Given the description of an element on the screen output the (x, y) to click on. 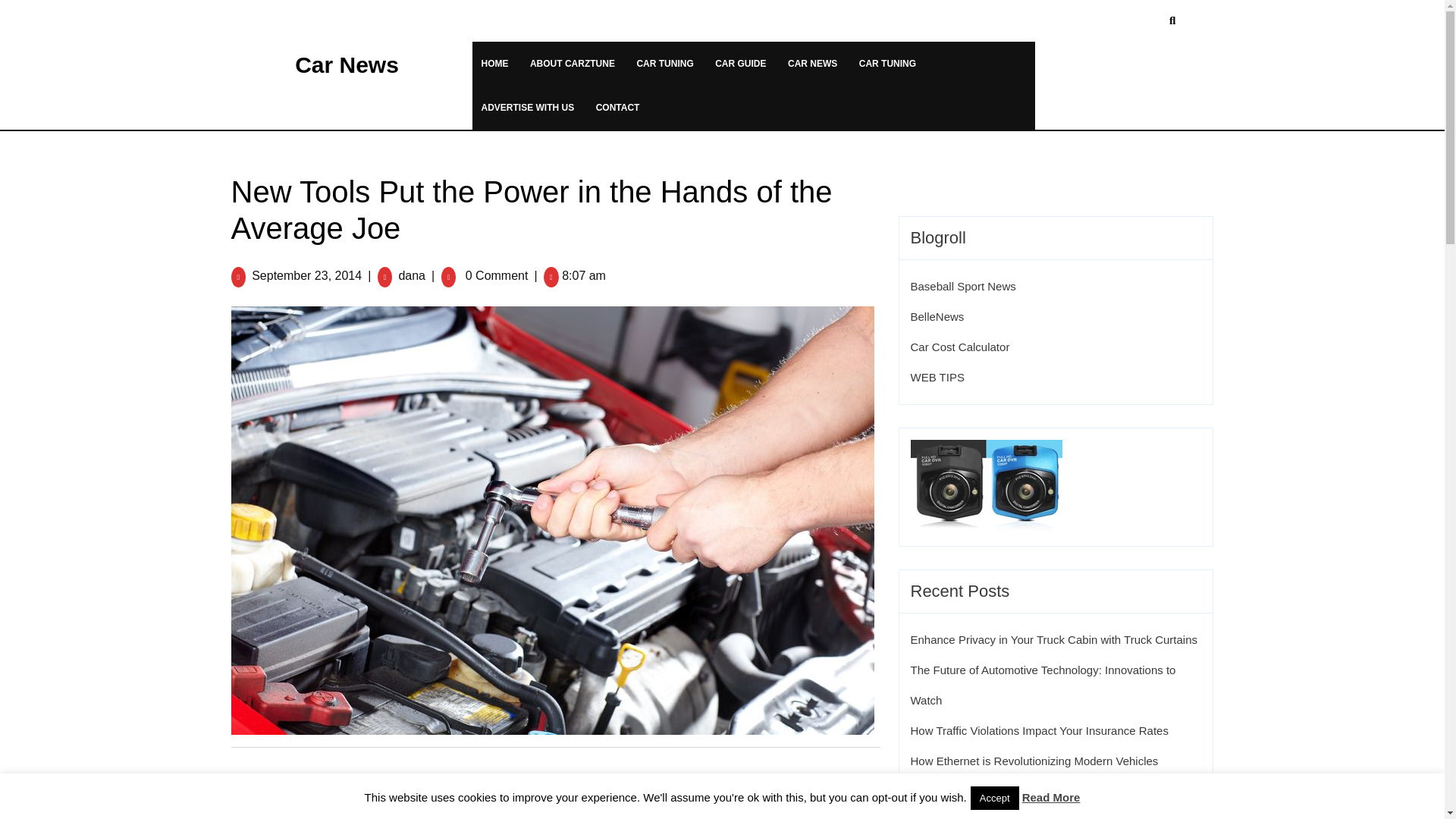
CAR GUIDE (740, 62)
auto repairs (401, 815)
ABOUT CARZTUNE (572, 62)
power kit auto (569, 815)
Car News (346, 64)
Belle News (936, 316)
CONTACT (617, 106)
HOME (493, 62)
Motoring Costs Calculator (959, 346)
ADVERTISE WITH US (527, 106)
CAR TUNING (664, 62)
Powerbuilt tools (672, 815)
auto repair kit (308, 815)
September 23, 2014 (306, 274)
Car Guide (337, 787)
